Given the description of an element on the screen output the (x, y) to click on. 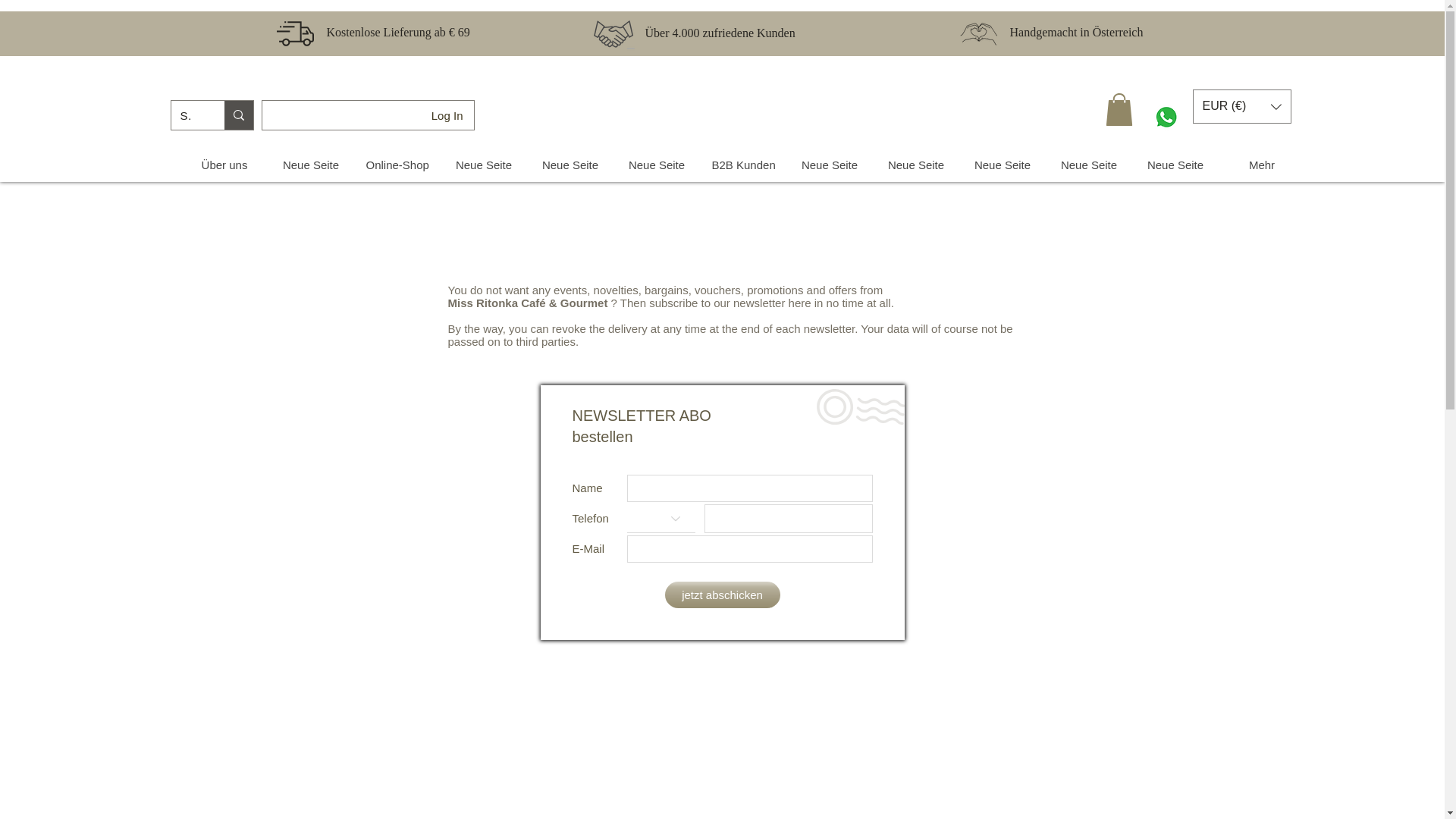
Online-Shop (396, 164)
Neue Seite (309, 164)
Neue Seite (482, 164)
Log In (433, 114)
Neue Seite (568, 164)
